Given the description of an element on the screen output the (x, y) to click on. 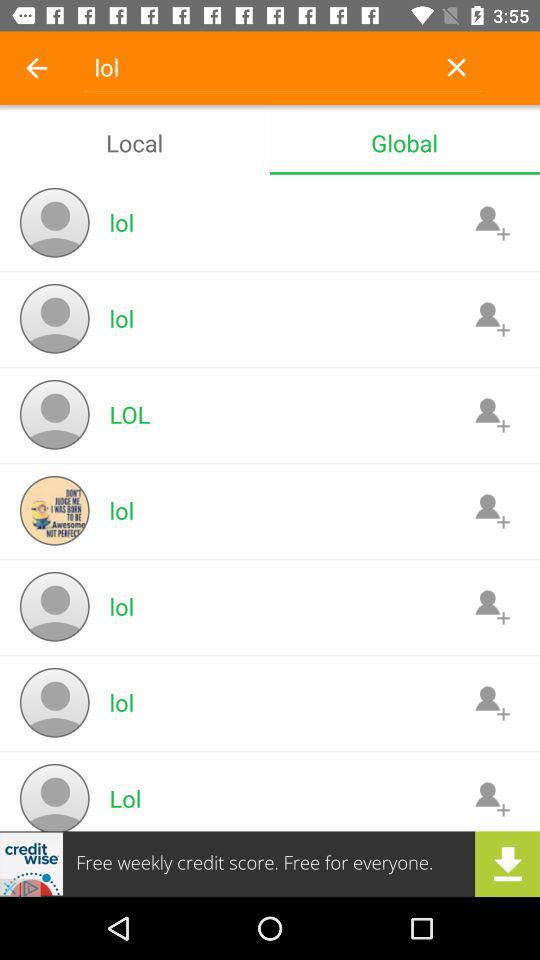
download the option (270, 864)
